Given the description of an element on the screen output the (x, y) to click on. 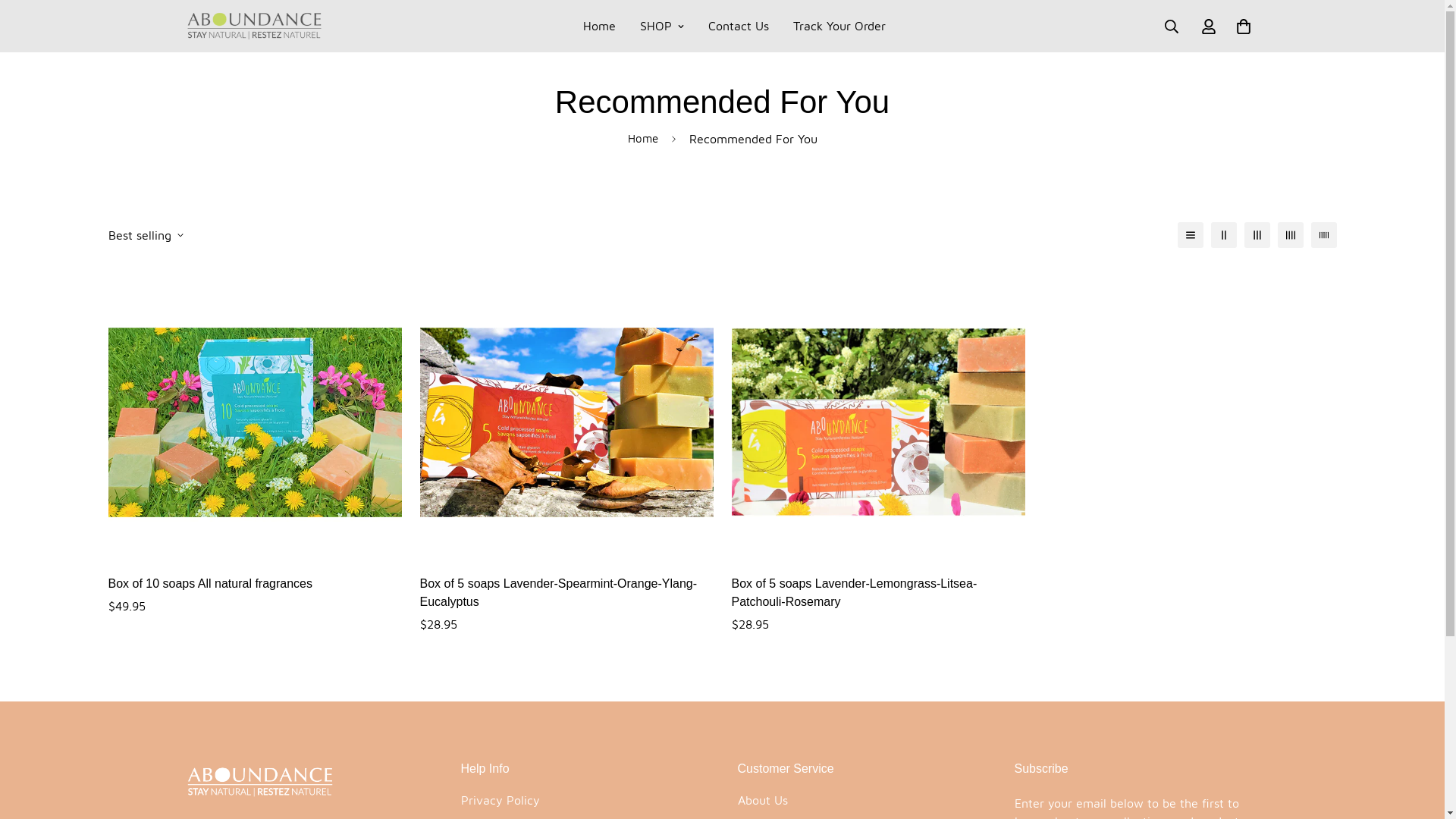
Box of 5 soaps Lavender-Lemongrass-Litsea-Patchouli-Rosemary Element type: text (877, 592)
Box of 5 soaps Lavender-Spearmint-Orange-Ylang-Eucalyptus Element type: text (566, 592)
SHOP Element type: text (661, 26)
About Us Element type: text (762, 799)
Home Element type: text (599, 26)
Track Your Order Element type: text (839, 26)
Box of 10 soaps All natural fragrances Element type: text (254, 583)
Contact Us Element type: text (738, 26)
aboundance.ca Element type: hover (253, 26)
Privacy Policy Element type: text (500, 799)
Home Element type: text (642, 138)
